Given the description of an element on the screen output the (x, y) to click on. 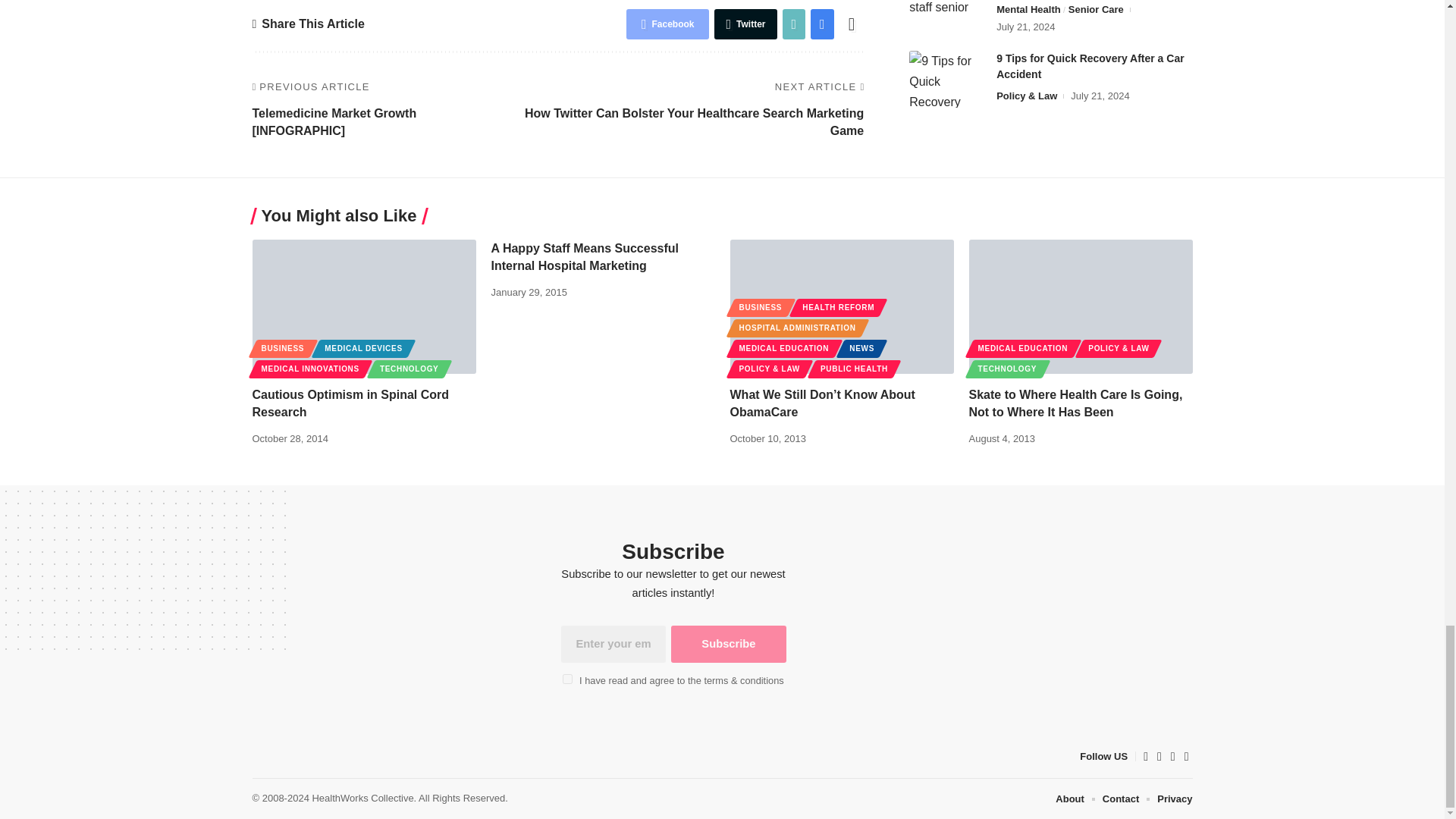
Subscribe (728, 643)
1 (567, 678)
Cautious Optimism in Spinal Cord Research (363, 306)
